Given the description of an element on the screen output the (x, y) to click on. 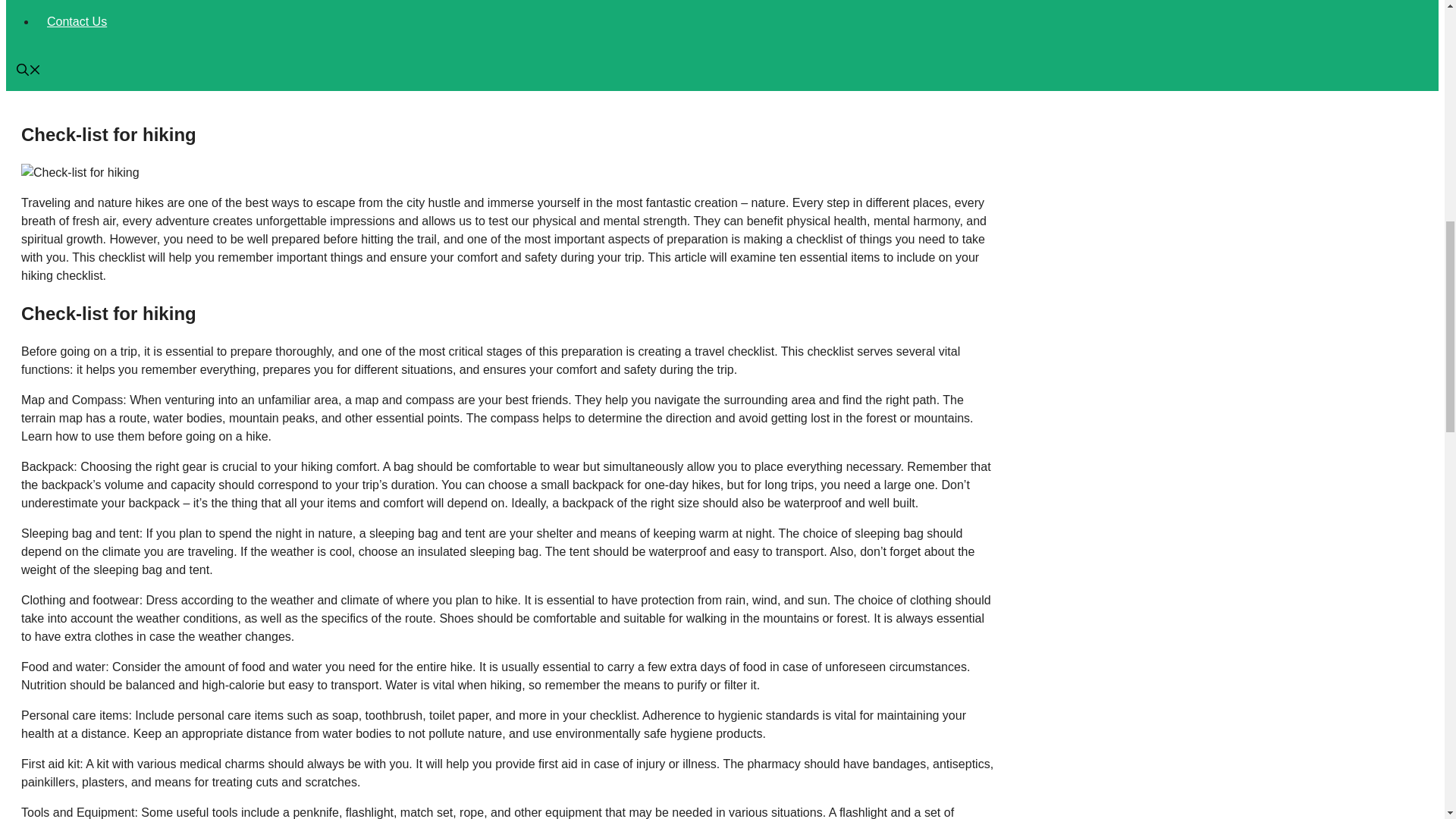
Contact Us (76, 21)
